Given the description of an element on the screen output the (x, y) to click on. 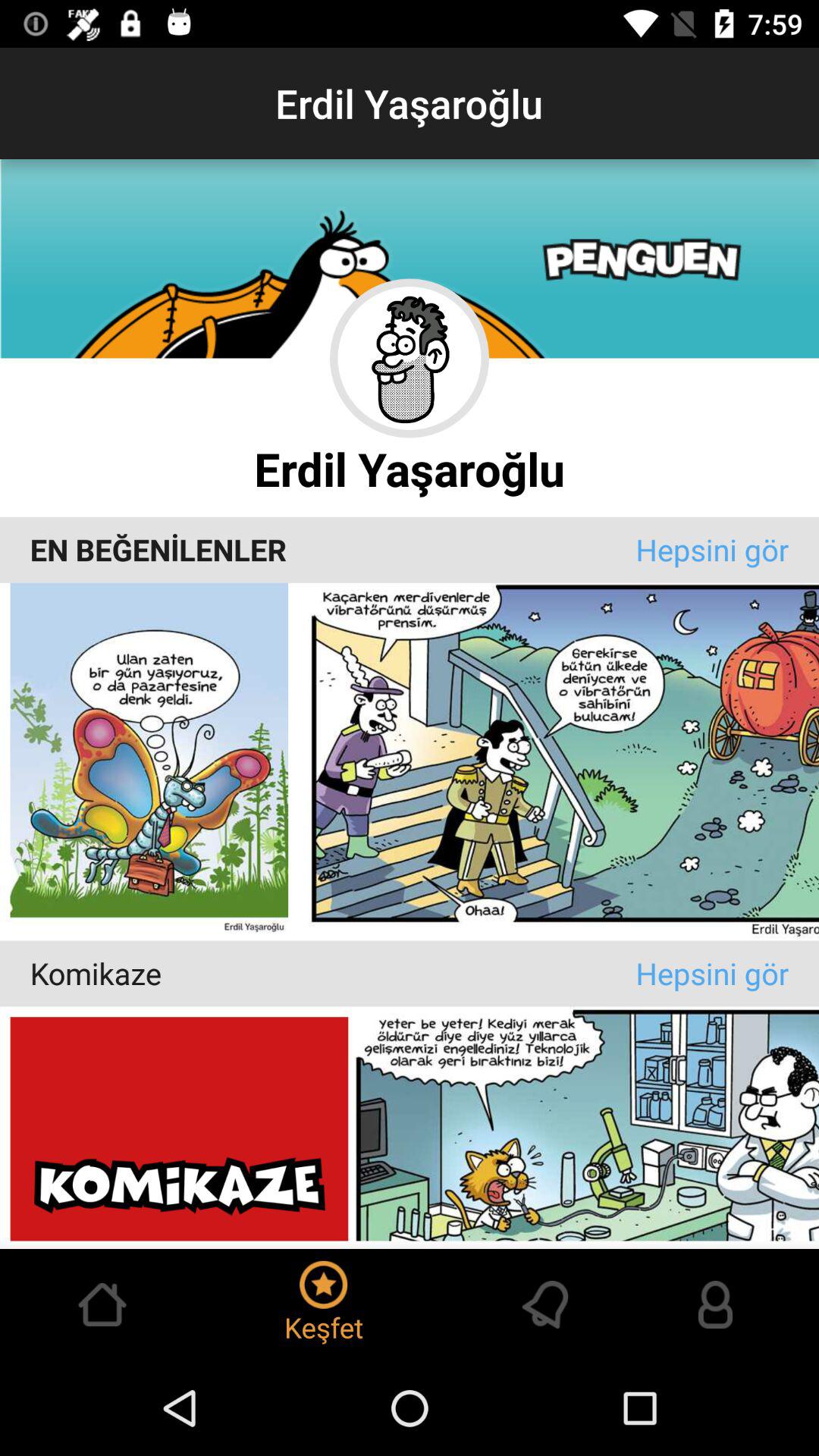
open item at the center (332, 549)
